Given the description of an element on the screen output the (x, y) to click on. 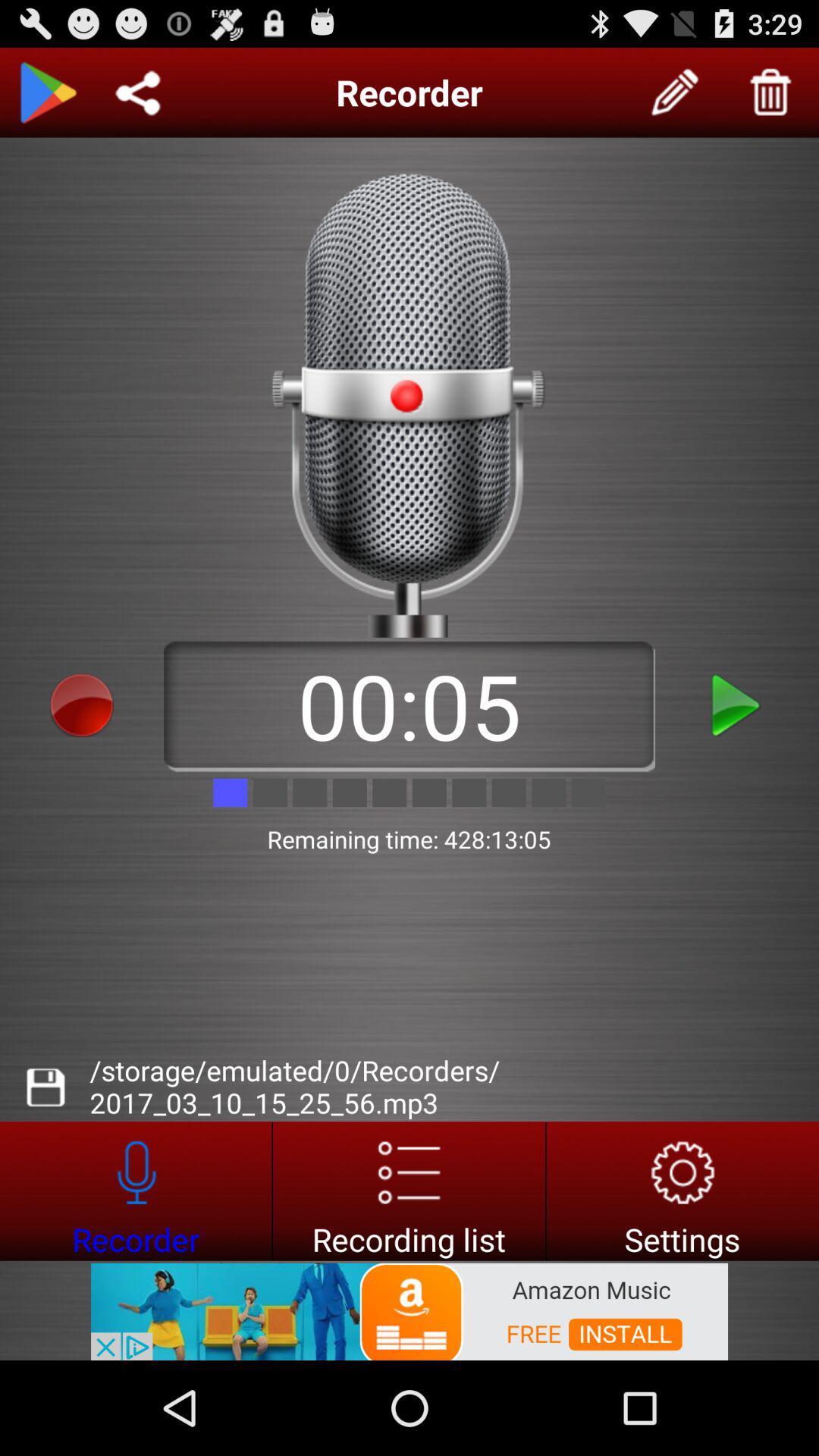
button to go to recorder (135, 1190)
